Given the description of an element on the screen output the (x, y) to click on. 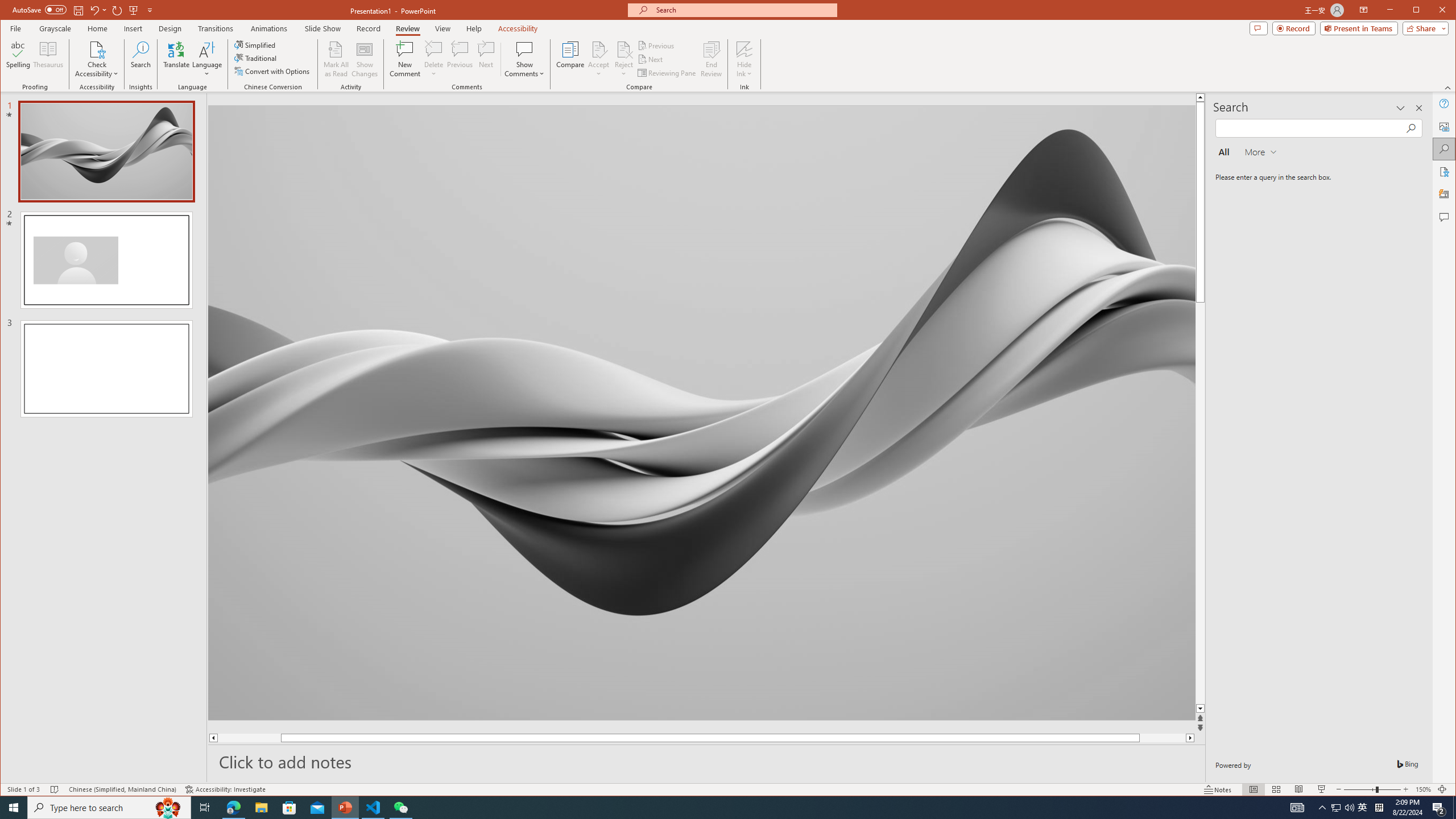
Reject Change (623, 48)
Accept Change (598, 48)
Previous (657, 45)
